Given the description of an element on the screen output the (x, y) to click on. 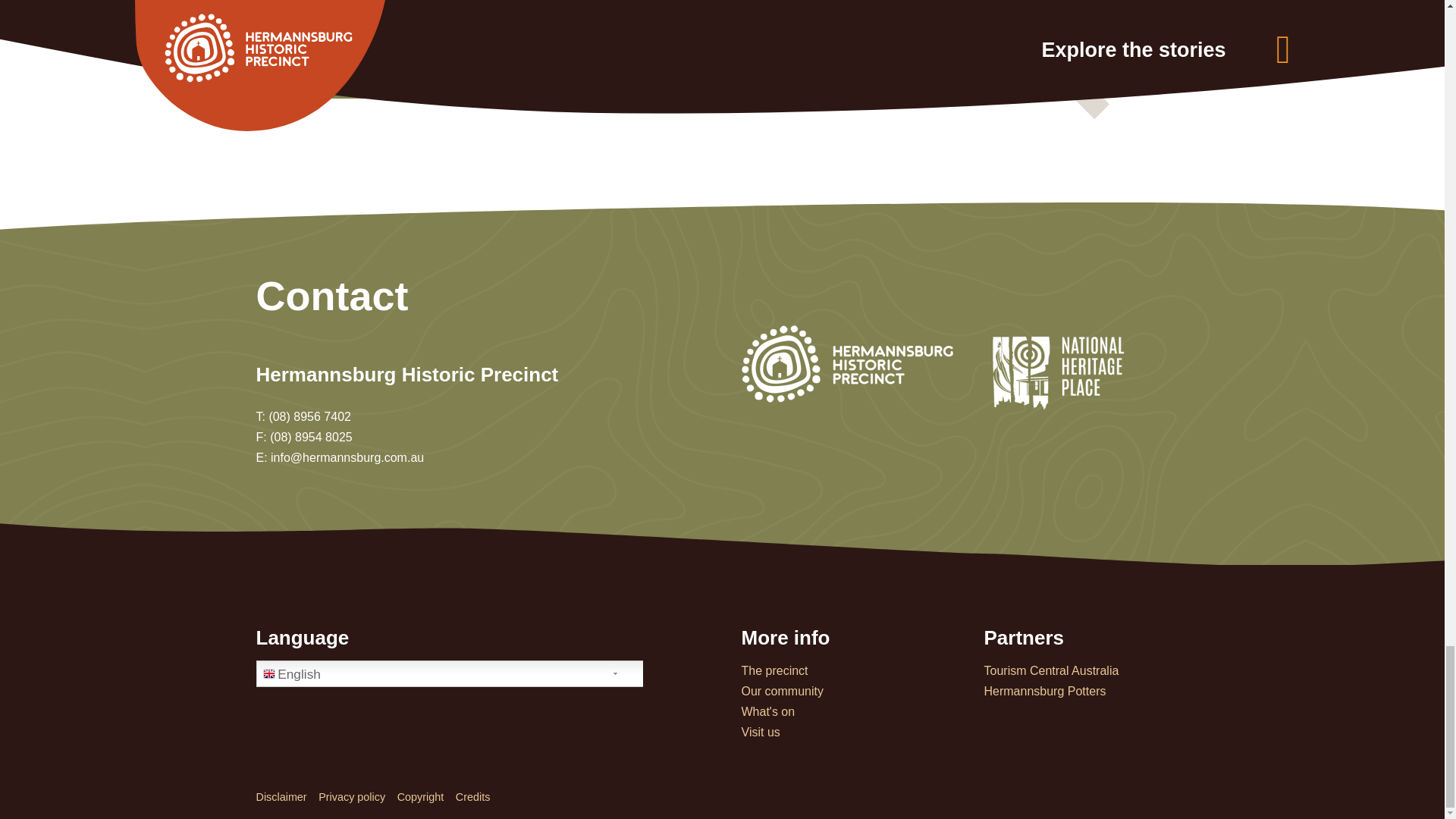
English (457, 673)
Explore other stories (427, 50)
Tourism Central Australia (1051, 670)
Our community (782, 690)
Whats on (767, 711)
